Given the description of an element on the screen output the (x, y) to click on. 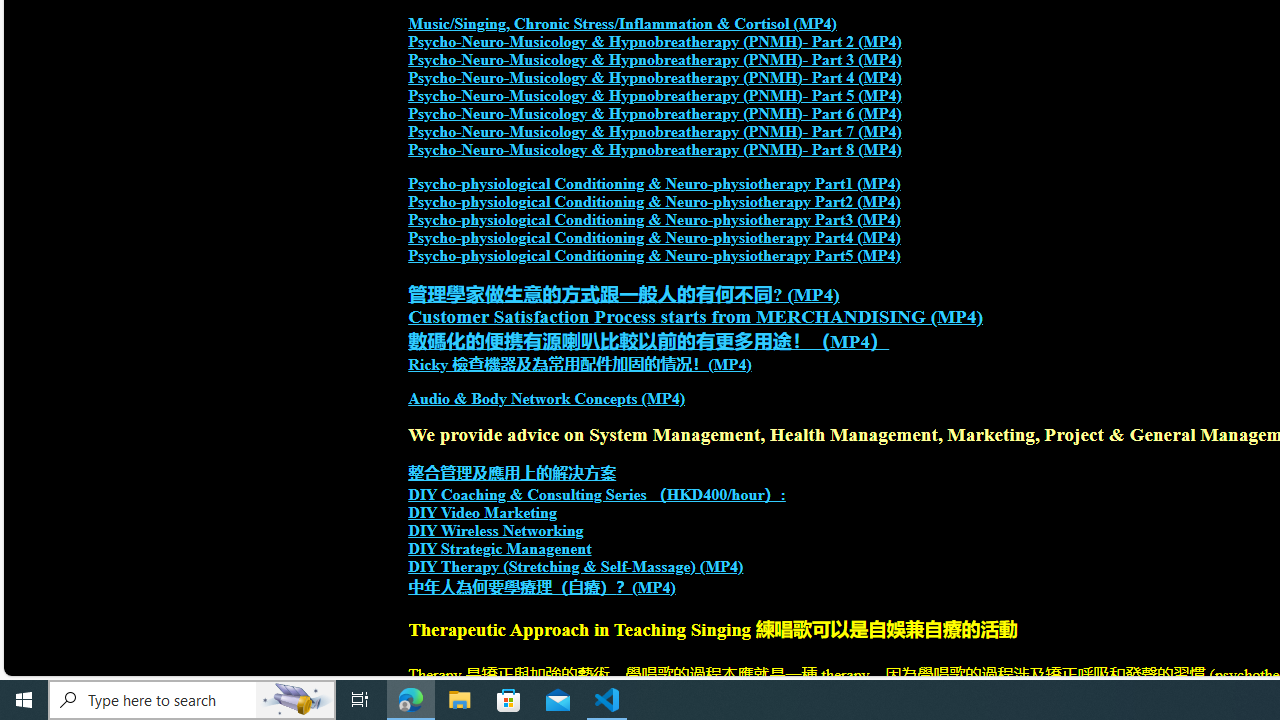
(MP4) (653, 587)
Audio & Body Network Concepts (MP4) (547, 399)
